Given the description of an element on the screen output the (x, y) to click on. 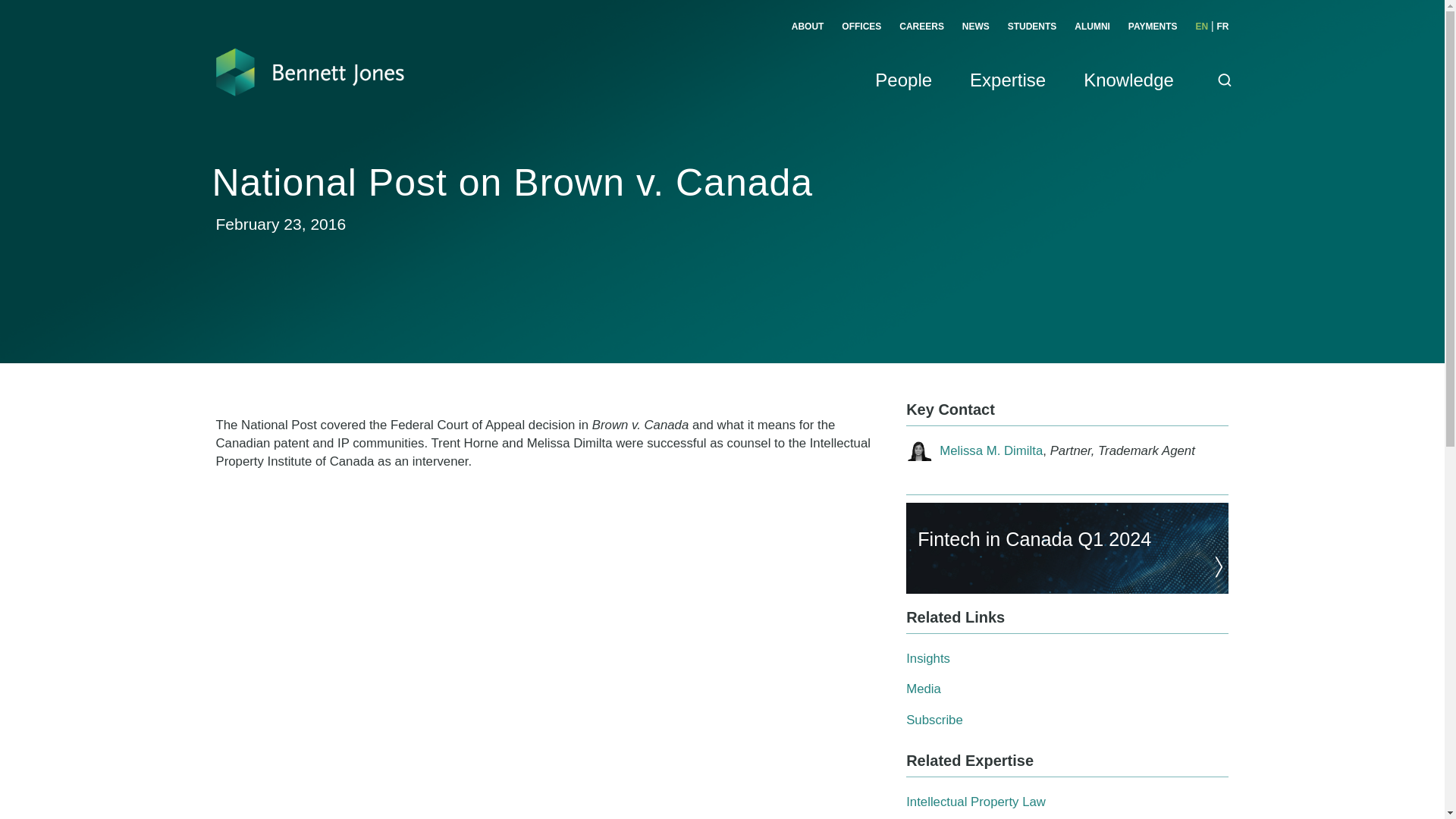
STUDENTS (1032, 26)
PAYMENTS (1152, 26)
ALUMNI (1091, 26)
CAREERS (921, 26)
Expertise (1007, 97)
FR (1221, 26)
EN (1201, 26)
NEWS (976, 26)
ABOUT (808, 26)
OFFICES (860, 26)
